Given the description of an element on the screen output the (x, y) to click on. 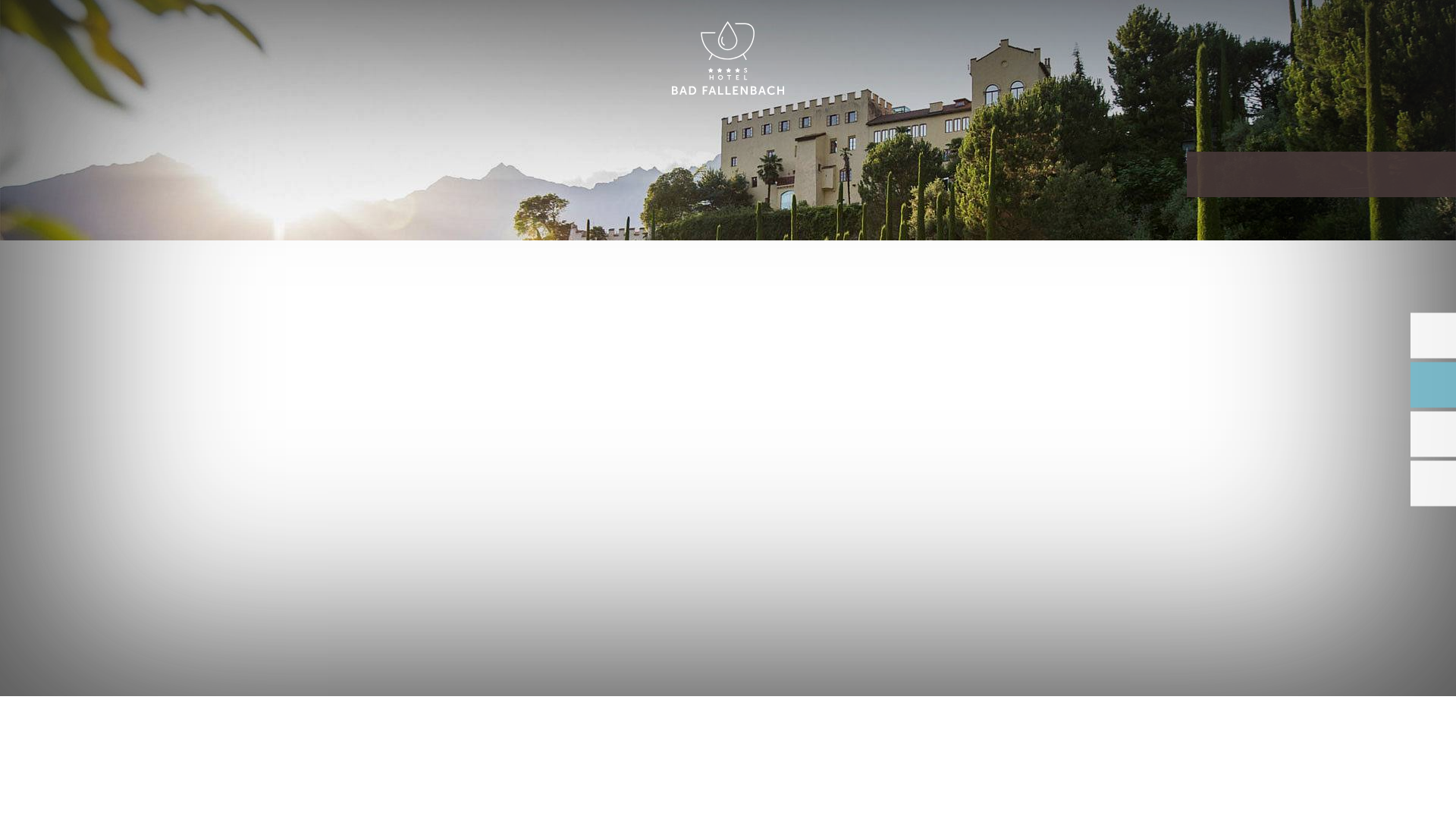
ENGLISH (1291, 29)
HOTEL BAD FALLENBACH (727, 59)
